Given the description of an element on the screen output the (x, y) to click on. 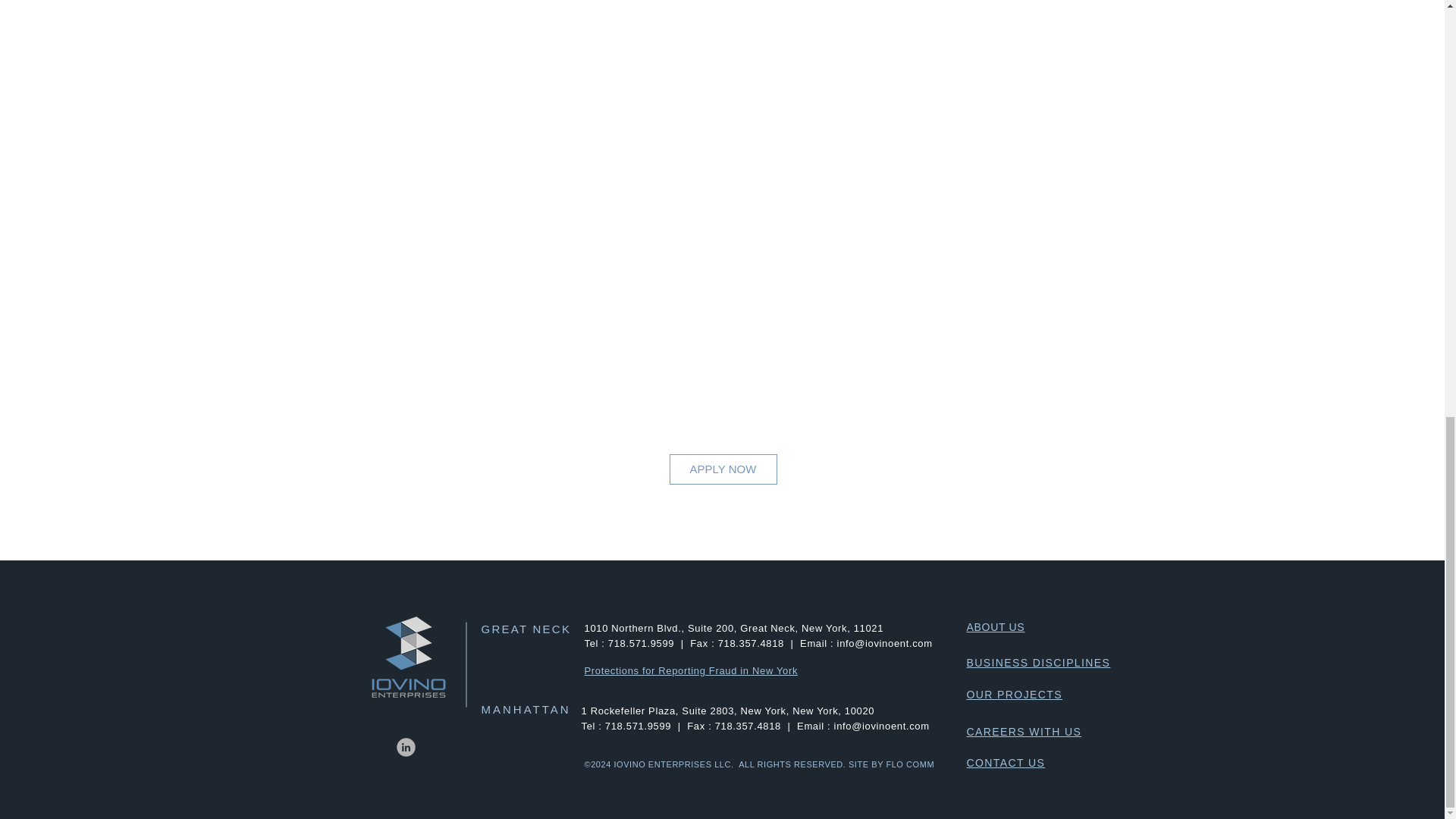
APPLY NOW (722, 469)
ABOUT US (995, 626)
OUR PROJECTS (1013, 694)
CONTACT US (1005, 762)
SITE BY FLO COMM (891, 764)
CAREERS WITH US (1023, 731)
BUSINESS DISCIPLINES (1037, 662)
Protections for Reporting Fraud in New York (690, 670)
